Given the description of an element on the screen output the (x, y) to click on. 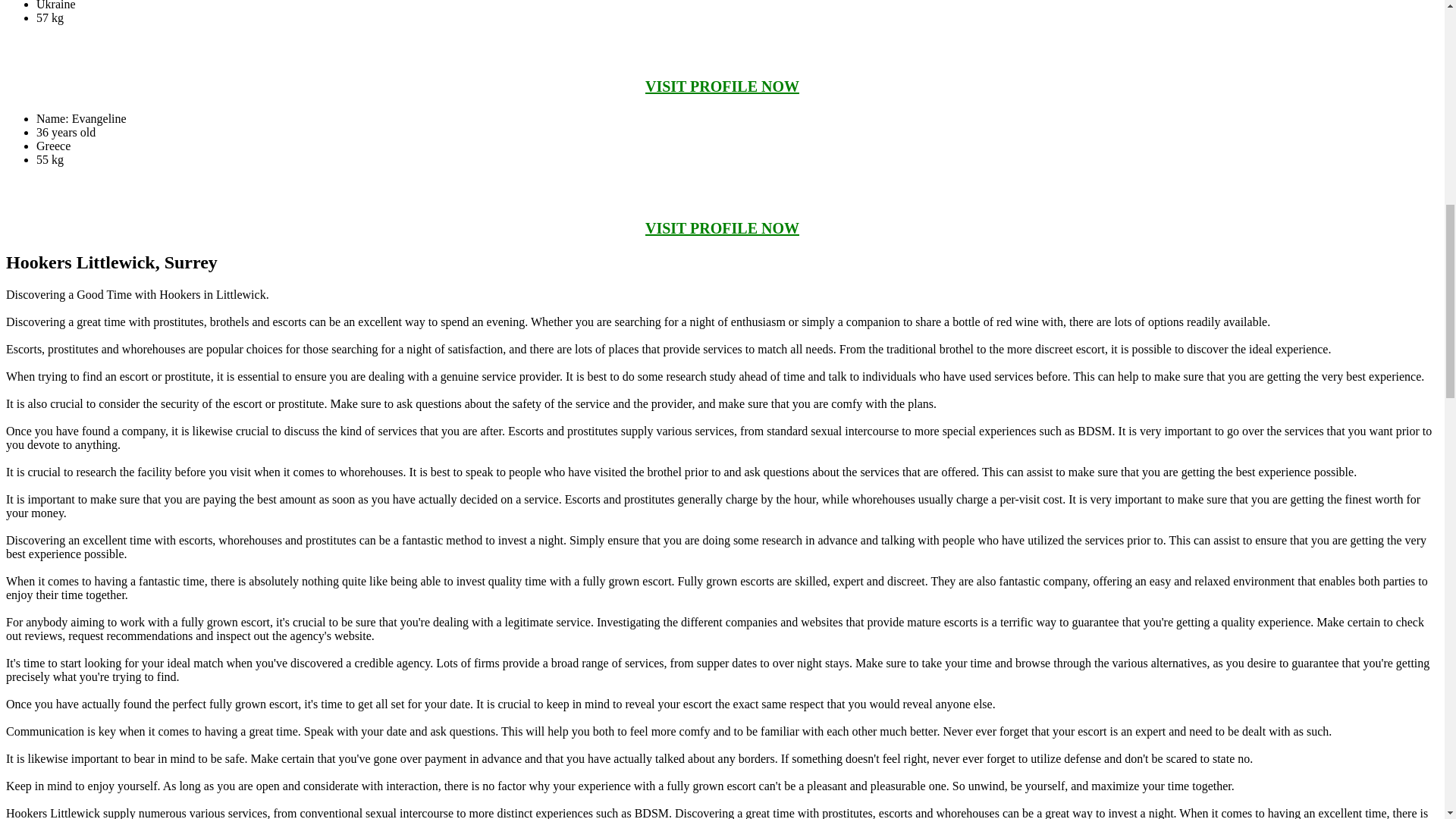
VISIT PROFILE NOW (722, 228)
VISIT PROFILE NOW (722, 86)
